Given the description of an element on the screen output the (x, y) to click on. 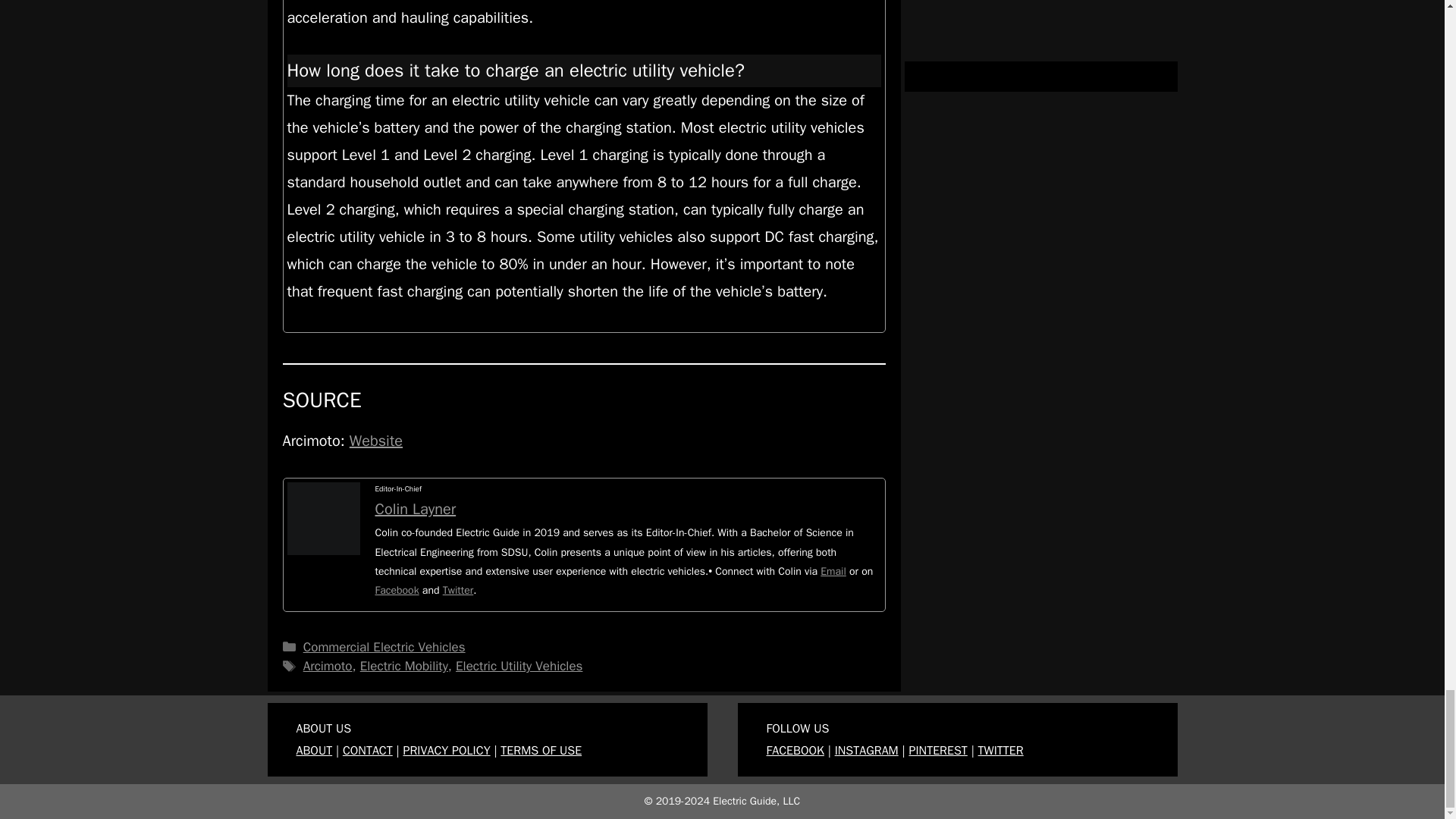
Colin Layner on Twitter (458, 590)
Colin Layner (414, 508)
Email (833, 571)
Electric Mobility (403, 666)
Commercial Electric Vehicles (383, 647)
Twitter (458, 590)
Colin Layner on Facebook (396, 590)
Electric Utility Vehicles (518, 666)
Facebook (396, 590)
